Given the description of an element on the screen output the (x, y) to click on. 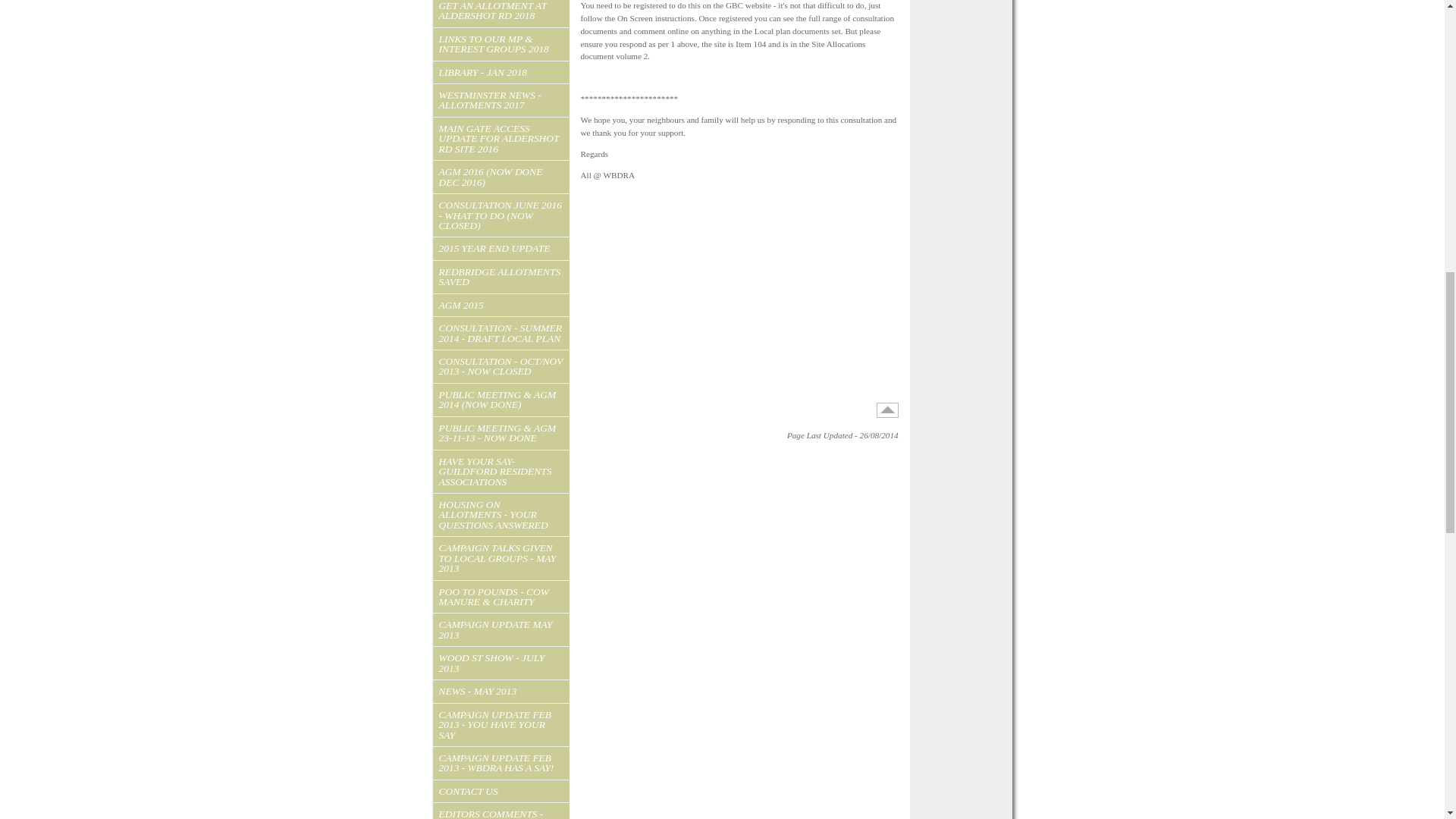
2015 YEAR END UPDATE (500, 248)
REDBRIDGE ALLOTMENTS SAVED (500, 277)
CONSULTATION - SUMMER 2014 - DRAFT LOCAL PLAN (500, 332)
LIBRARY - JAN 2018 (500, 72)
GET AN ALLOTMENT AT ALDERSHOT RD 2018 (500, 13)
WESTMINSTER NEWS - ALLOTMENTS 2017 (500, 100)
AGM 2015 (500, 305)
MAIN GATE ACCESS UPDATE FOR ALDERSHOT RD SITE 2016 (500, 138)
